Given the description of an element on the screen output the (x, y) to click on. 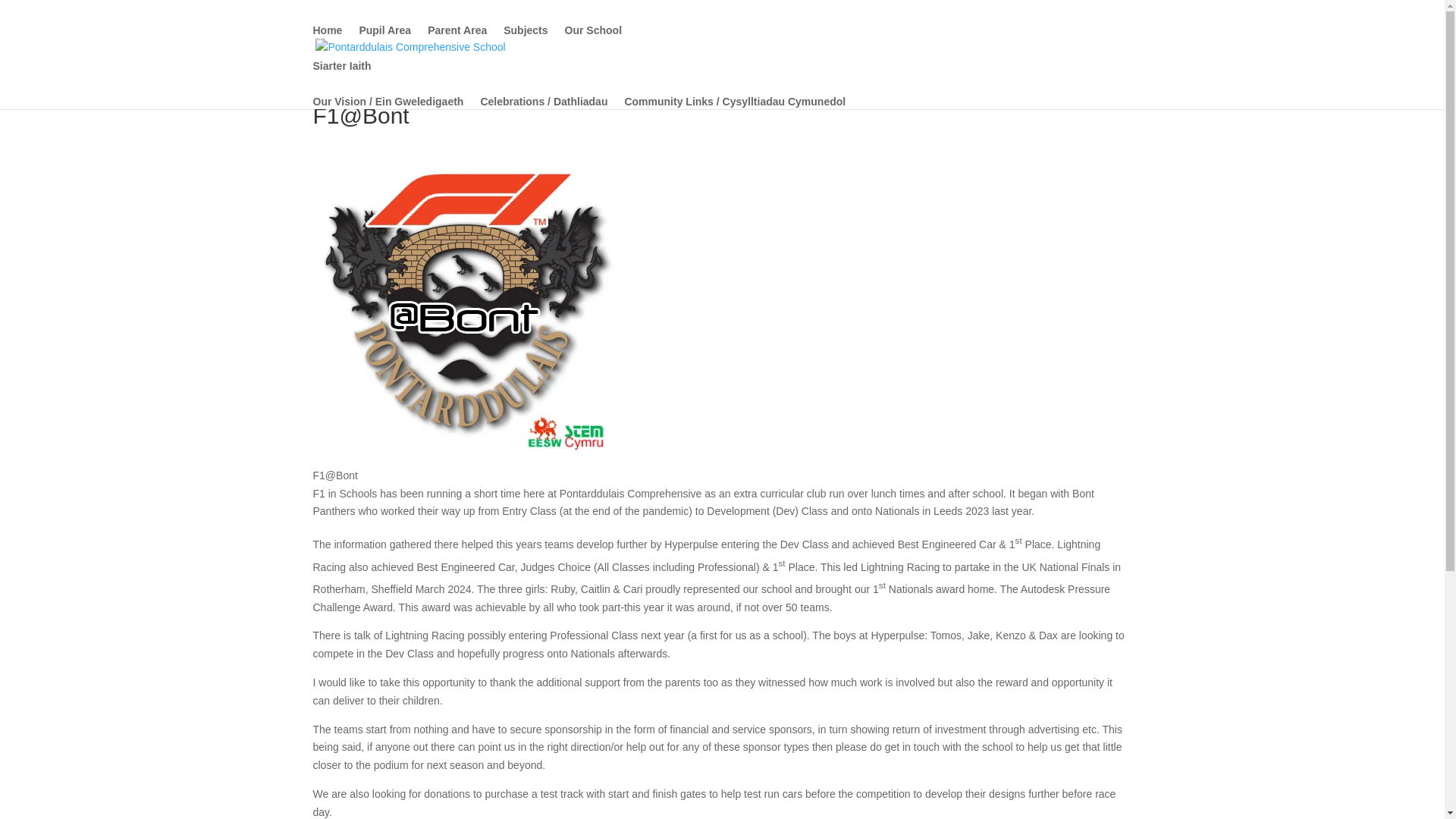
Our School (592, 42)
Pupil Area (384, 42)
Parent Area (457, 42)
Subjects (525, 42)
Siarter Iaith (587, 78)
